Given the description of an element on the screen output the (x, y) to click on. 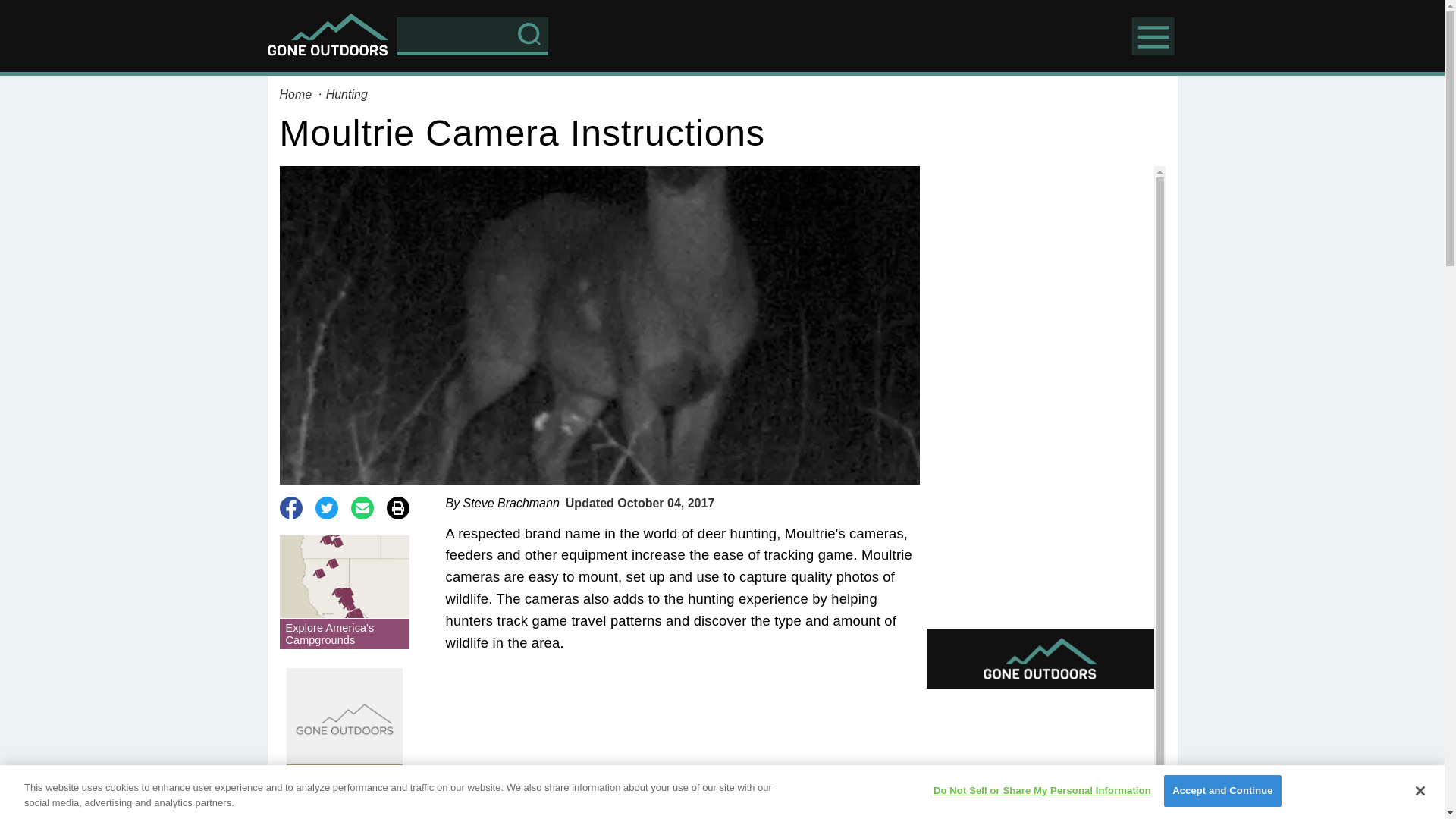
3rd party ad content (682, 748)
Hunting (347, 93)
3rd party ad content (1040, 260)
3rd party ad content (840, 35)
3rd party ad content (1040, 756)
Menu (1152, 35)
Do Not Sell or Share My Personal Information (1042, 790)
Home (296, 93)
Accept and Continue (1222, 790)
Explore America's Campgrounds (344, 592)
